Given the description of an element on the screen output the (x, y) to click on. 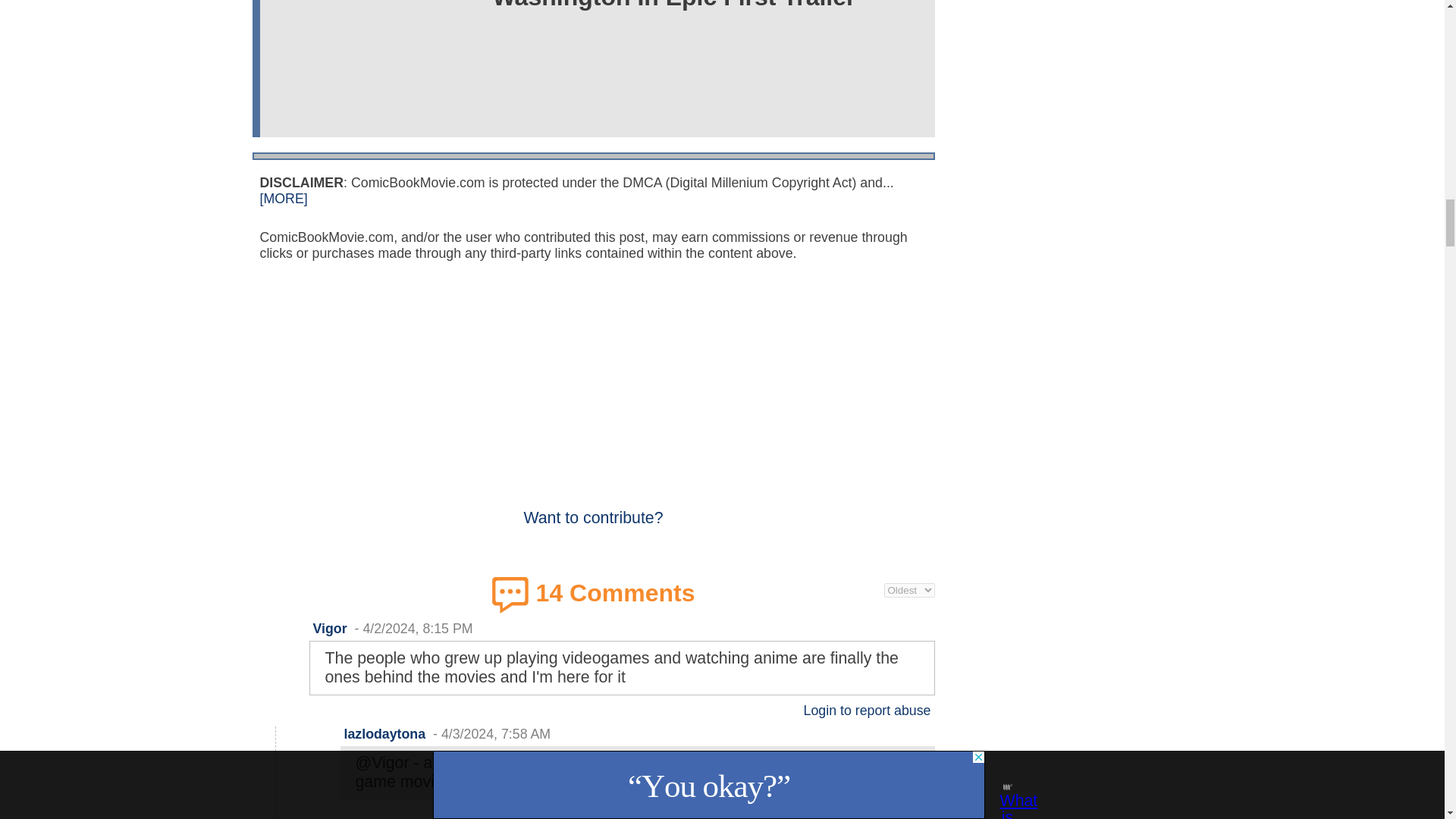
Find out how to become a contributor! (592, 508)
